Given the description of an element on the screen output the (x, y) to click on. 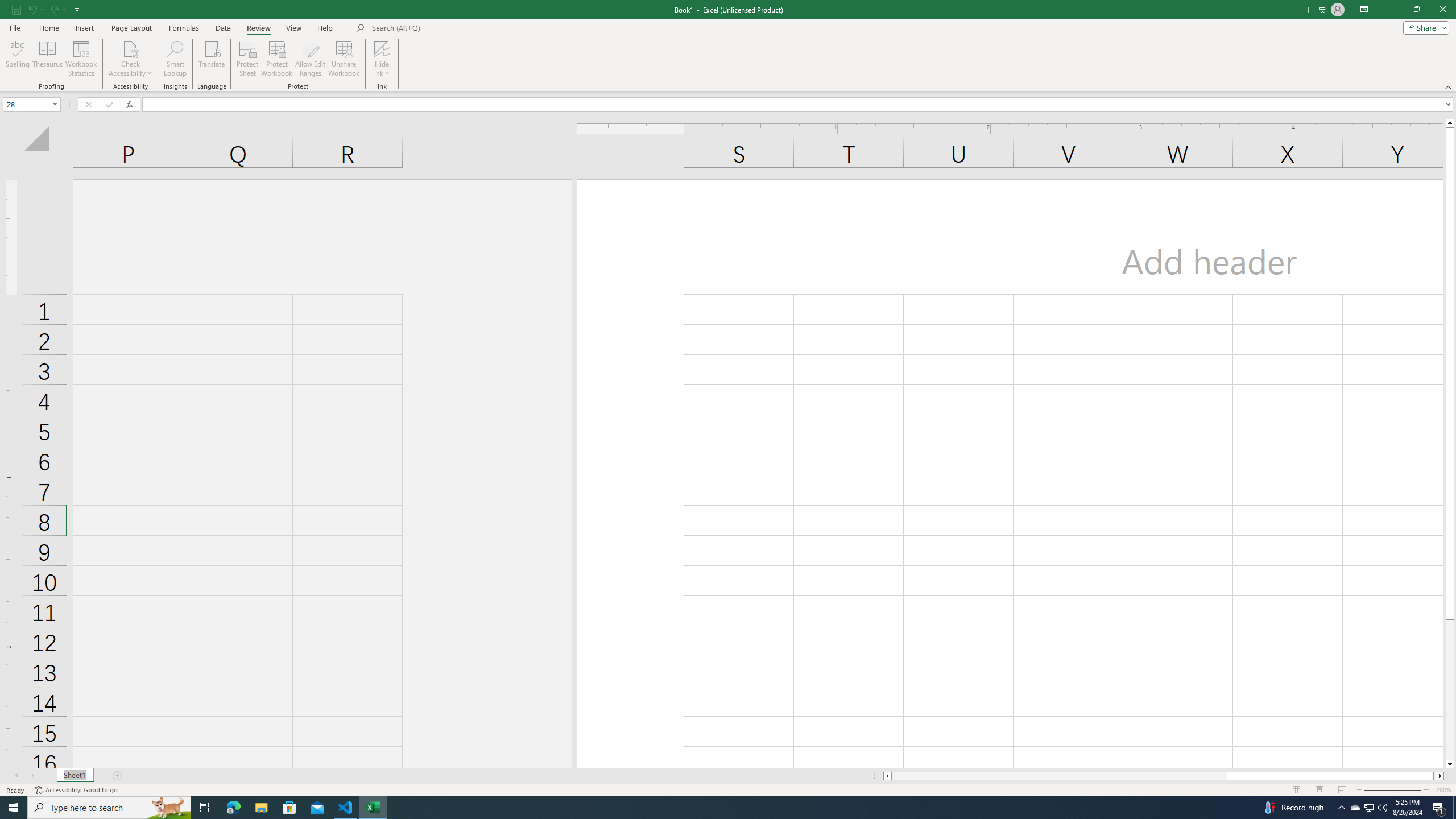
Protect Sheet... (247, 58)
Zoom Out (1385, 790)
Smart Lookup (175, 58)
Check Accessibility (129, 58)
